Given the description of an element on the screen output the (x, y) to click on. 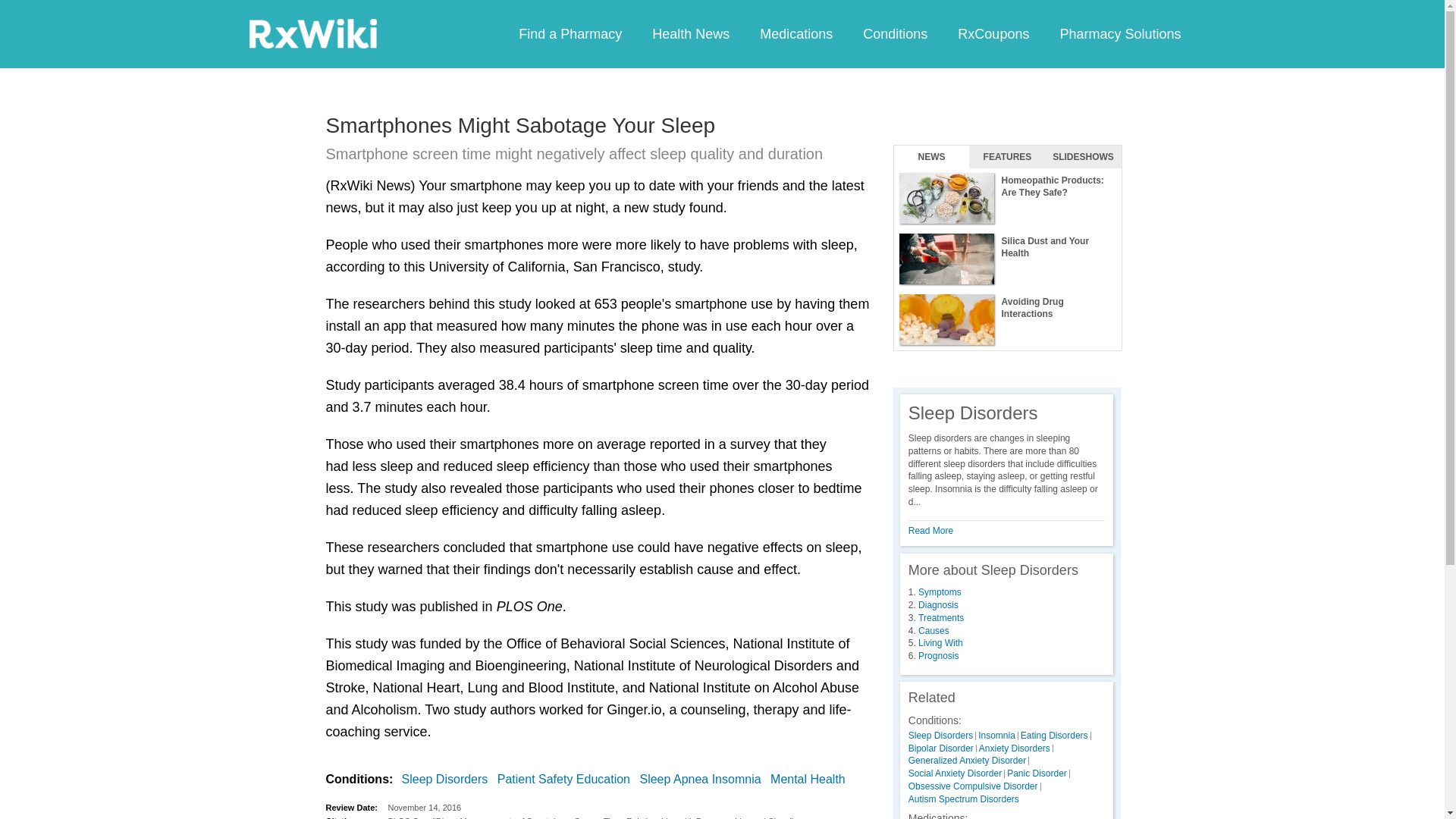
Patient Safety Education (566, 779)
Sleep Disorders (448, 779)
Mental Health (810, 779)
Medications (795, 33)
Homeopathic Products: Are They Safe? (1007, 198)
Health News (690, 33)
Find a Pharmacy (570, 33)
Conditions (894, 33)
RxWiki (312, 32)
